Given the description of an element on the screen output the (x, y) to click on. 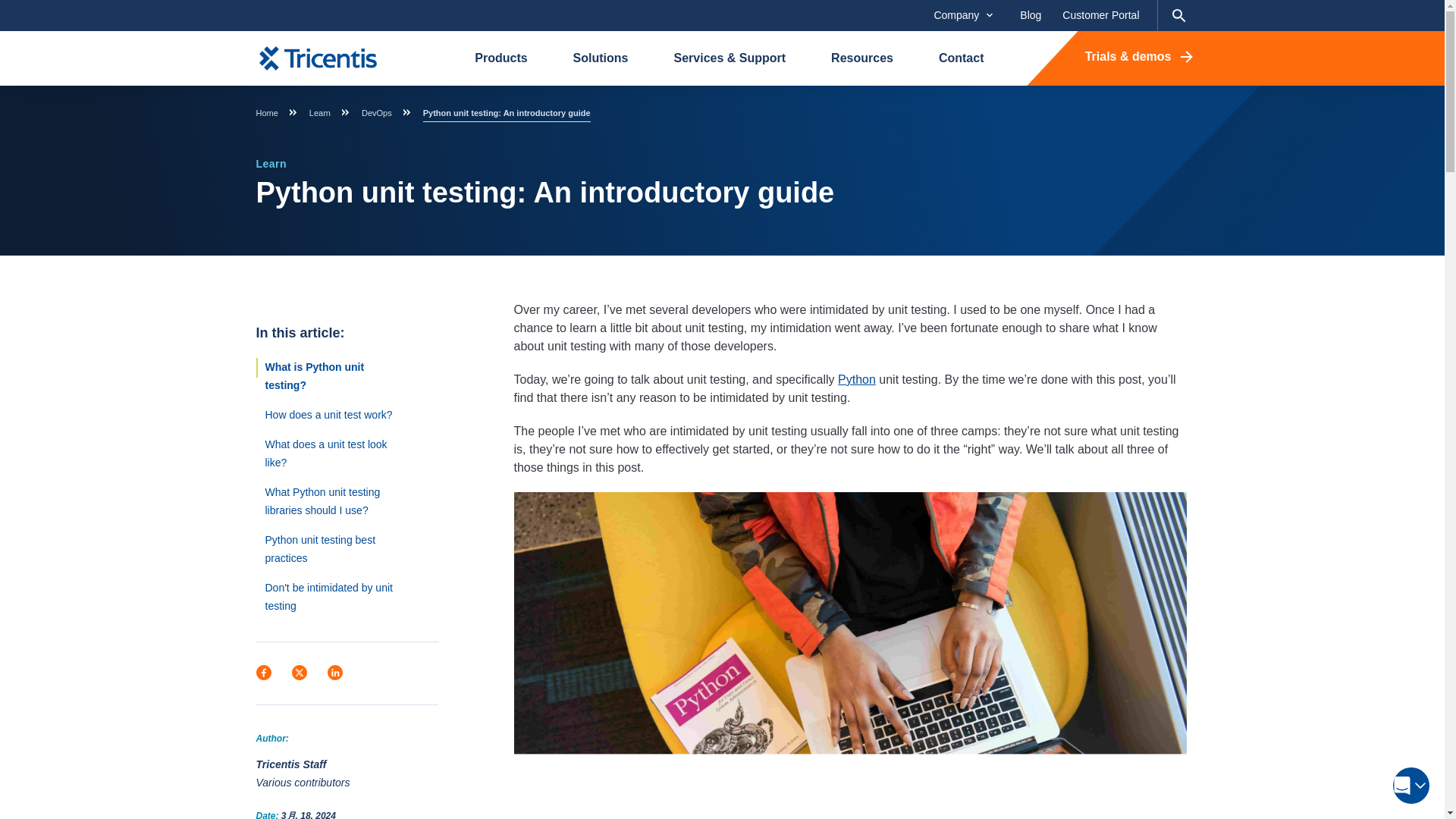
Customer Portal (1100, 15)
Company (962, 14)
Blog (1030, 15)
